Given the description of an element on the screen output the (x, y) to click on. 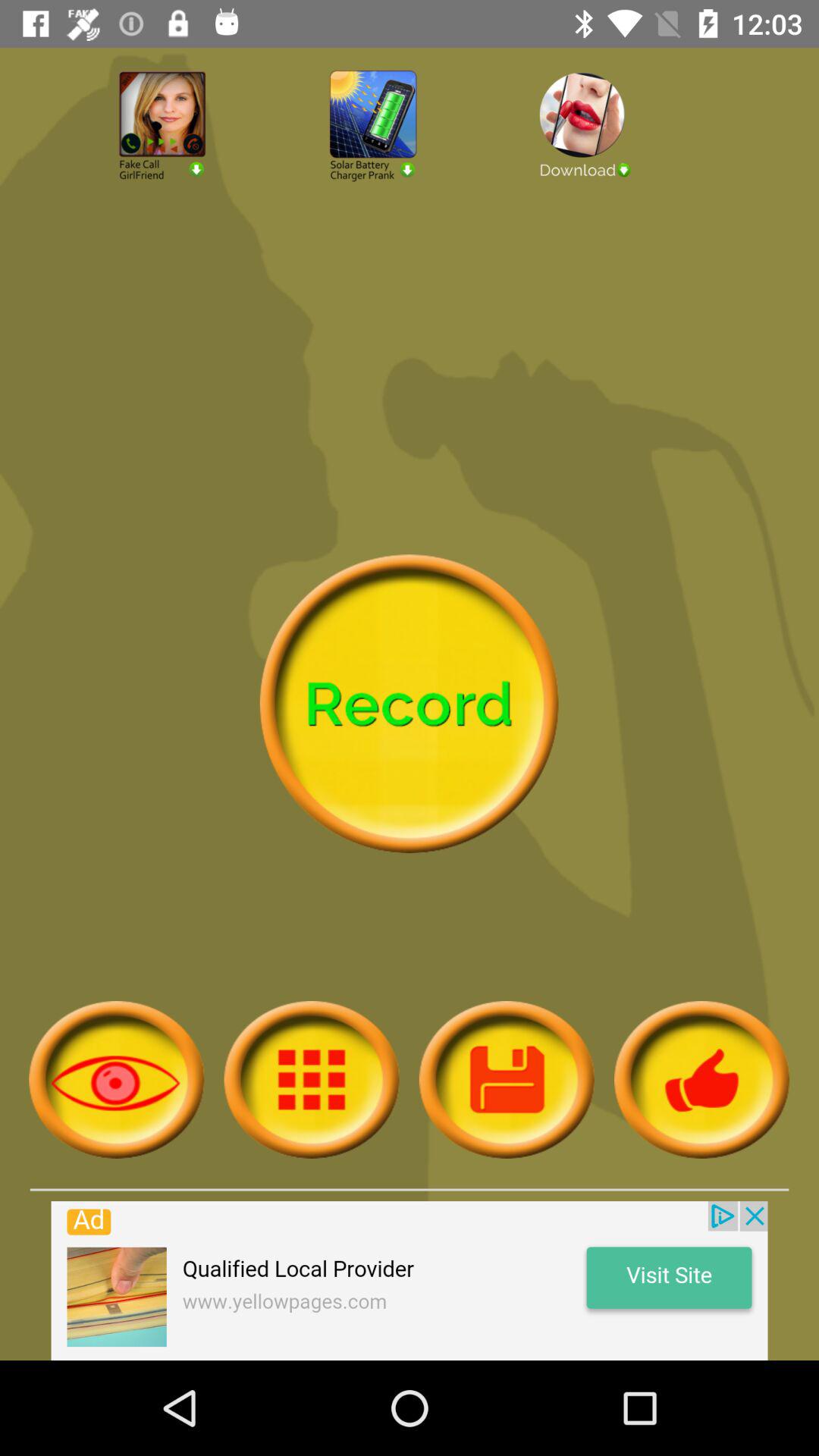
view app options (311, 1079)
